Given the description of an element on the screen output the (x, y) to click on. 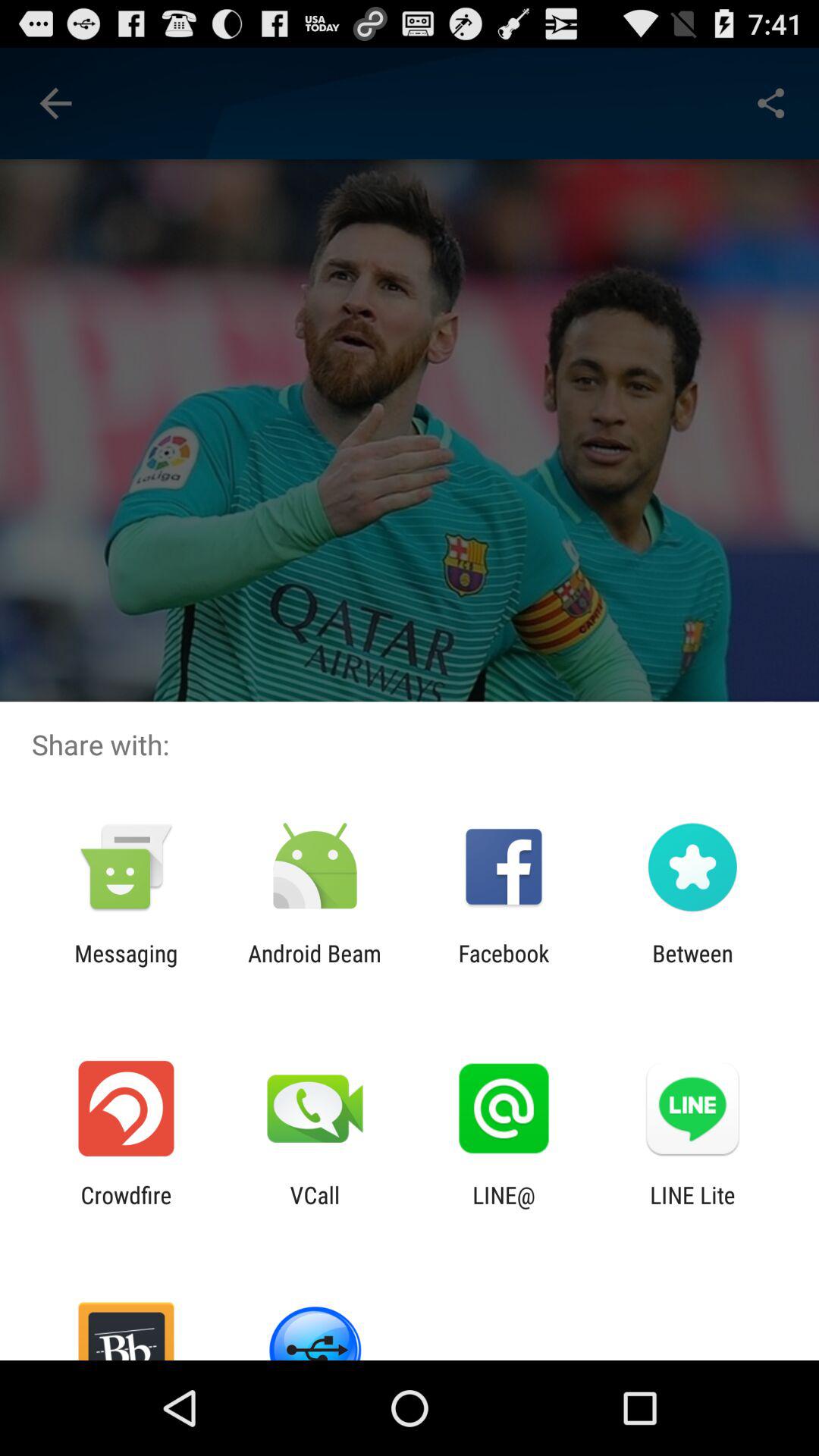
open the messaging (126, 966)
